Given the description of an element on the screen output the (x, y) to click on. 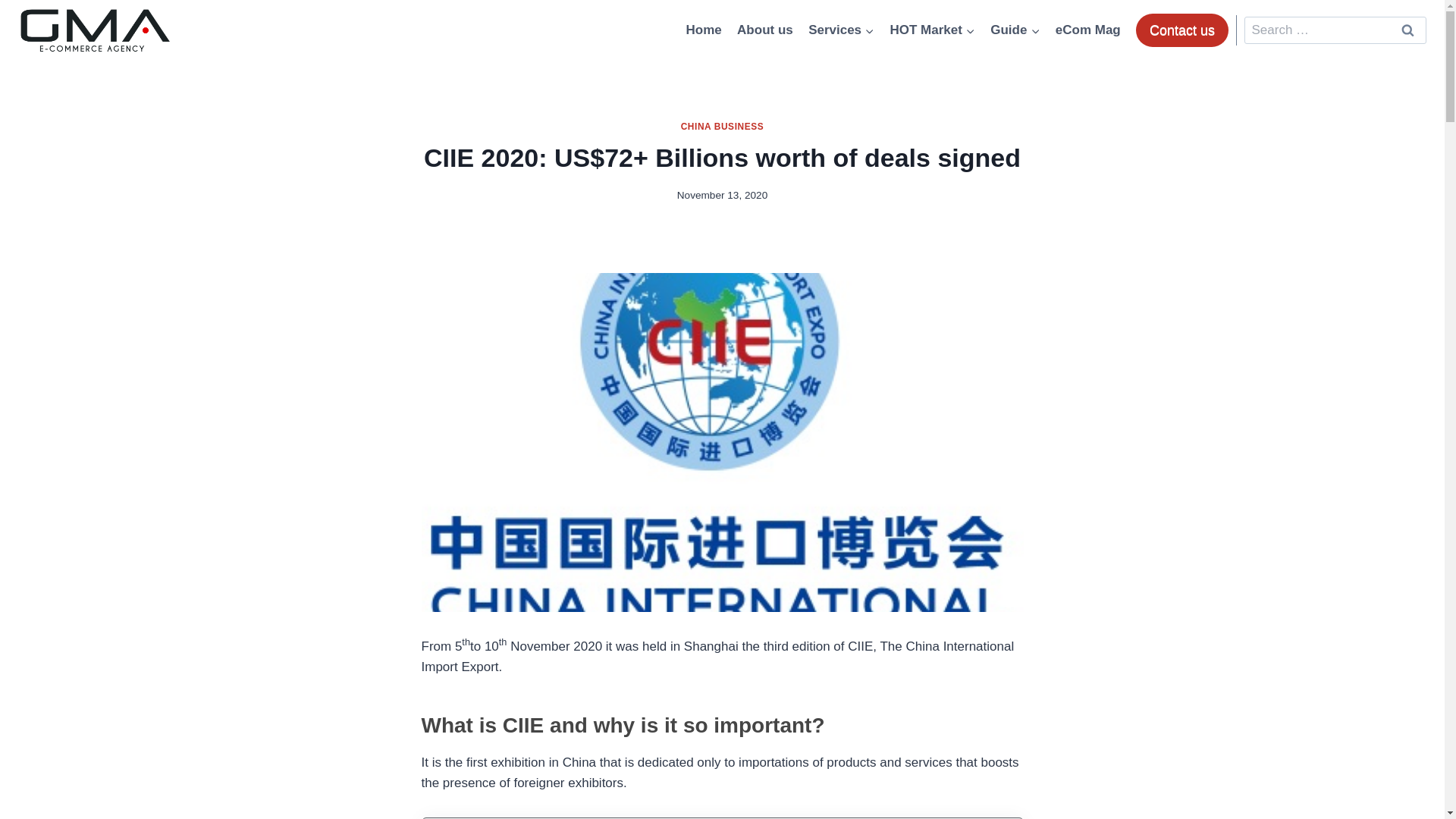
Search (1407, 29)
HOT Market (932, 30)
Guide (1015, 30)
Home (703, 30)
About us (764, 30)
Services (841, 30)
Search (1407, 29)
